Given the description of an element on the screen output the (x, y) to click on. 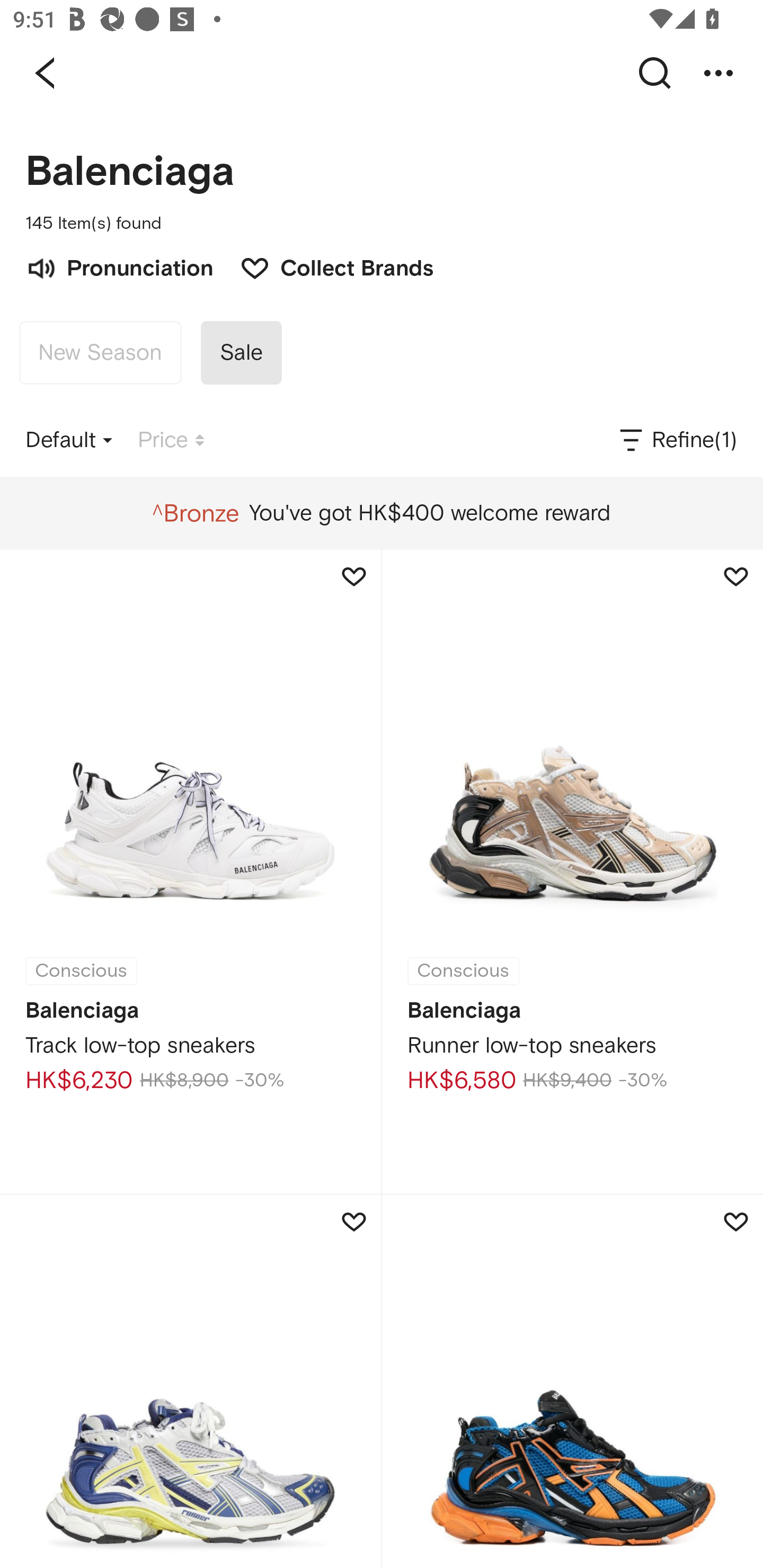
Pronunciation (119, 266)
Collect Brands (327, 266)
New Season (100, 352)
Sale (240, 352)
Default (68, 440)
Price (171, 440)
Refine(1) (677, 440)
You've got HK$400 welcome reward (381, 513)
